Given the description of an element on the screen output the (x, y) to click on. 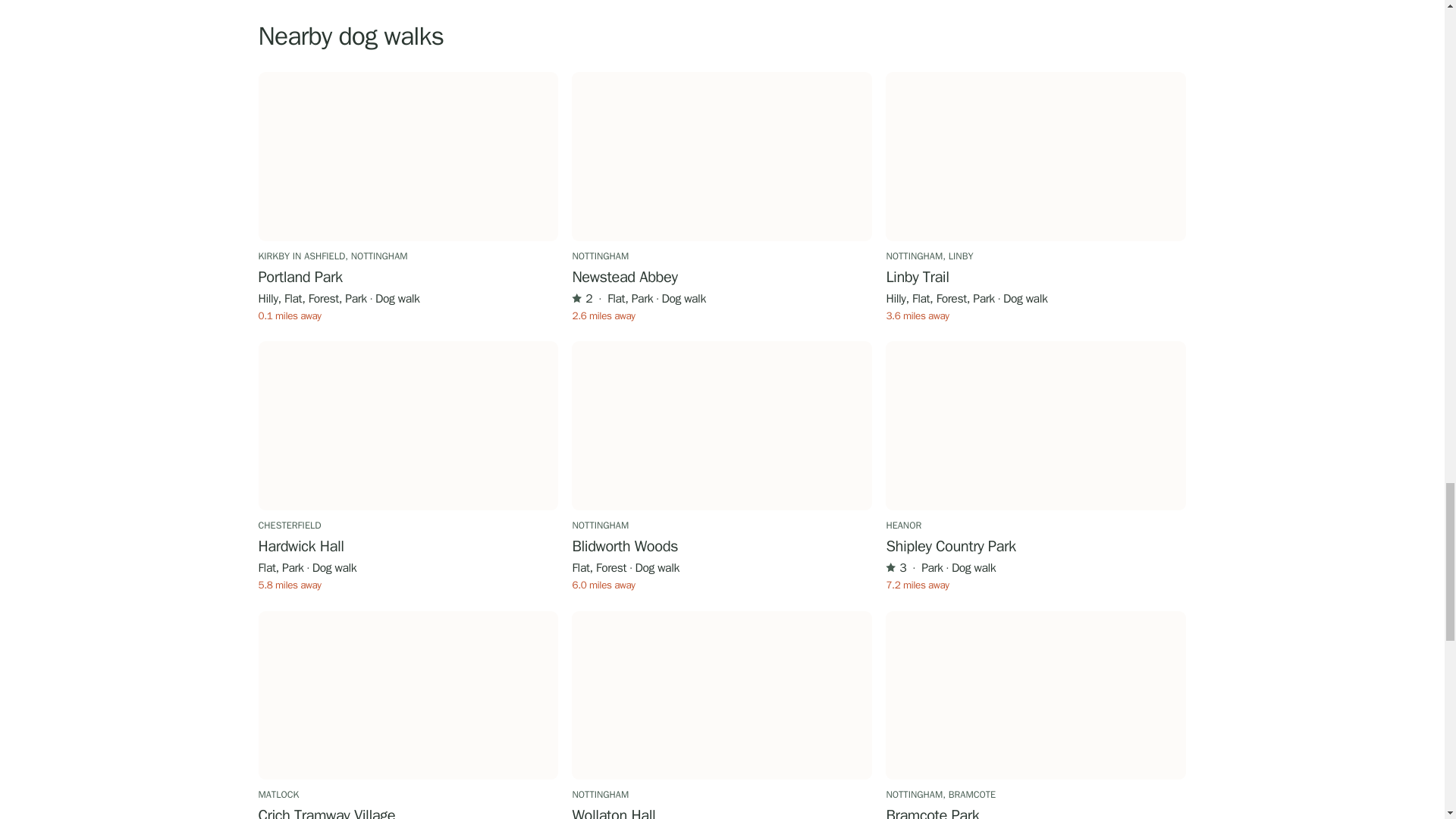
Hardwick Hall (407, 548)
Dog walk at Blidworth Woods (722, 425)
Newstead Abbey (722, 278)
Dog walk at Portland Park (407, 156)
Dog walk at Crich Tramway Village (407, 695)
Dog walk at Bramcote Park (1035, 695)
Dog walk at Newstead Abbey (722, 156)
Dog walk at Wollaton Hall (722, 695)
Dog walk at Linby Trail (1035, 156)
Portland Park (407, 278)
Linby Trail (1035, 278)
Dog walk at Hardwick Hall (407, 425)
Dog walk at Shipley Country Park (1035, 425)
